Given the description of an element on the screen output the (x, y) to click on. 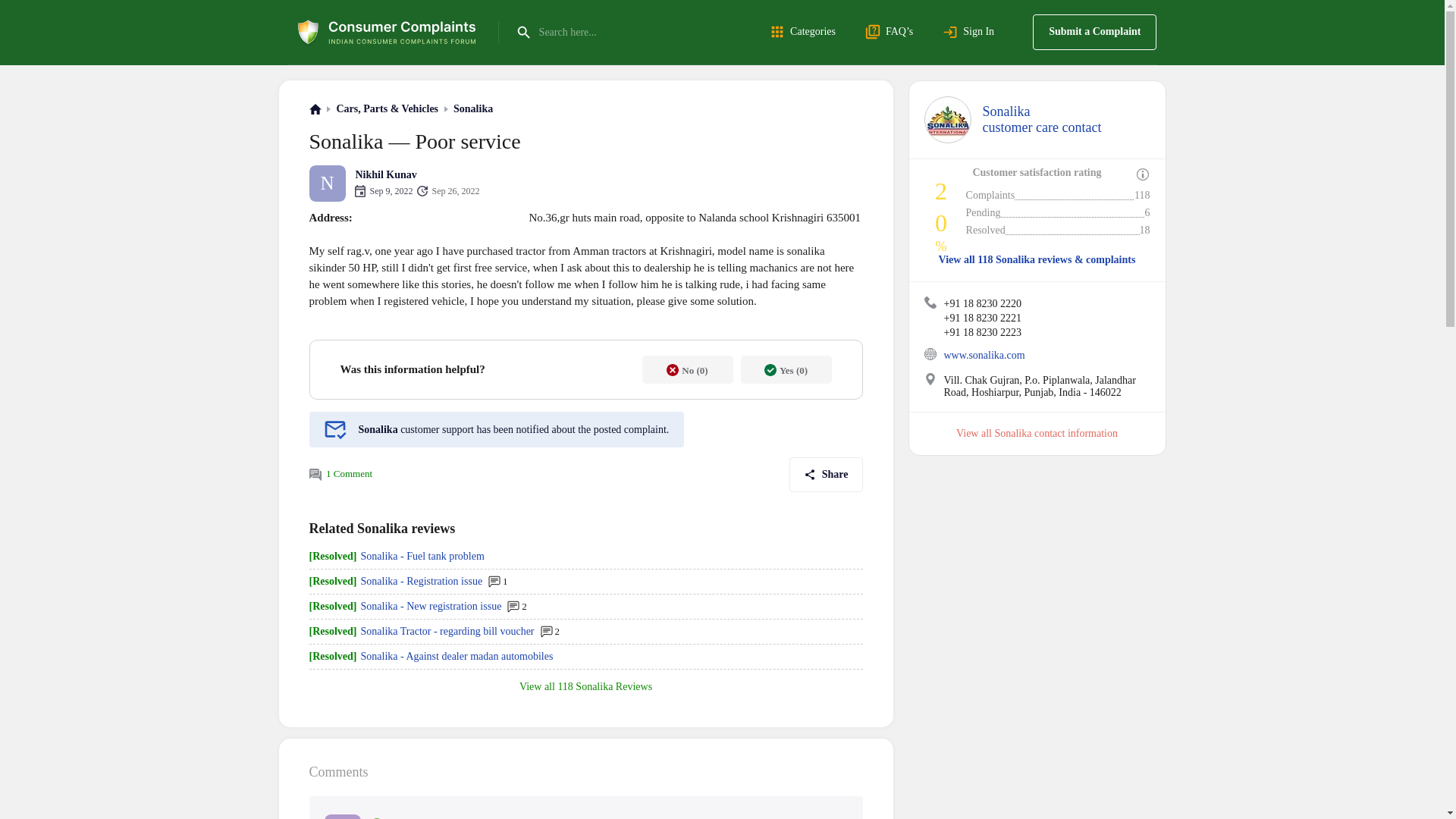
118 Sonalika Reviews (604, 686)
Sonalika Phone (1042, 119)
Sonalika Website (929, 302)
Sign In (929, 354)
Complaint comments (971, 31)
Sonalika Address (314, 474)
Categories (929, 378)
Sonalika (805, 31)
Submit a Complaint (472, 109)
Sonalika contact information (1094, 31)
www.sonalika.com (1056, 432)
Sonalika Customer Care Service (984, 355)
